Given the description of an element on the screen output the (x, y) to click on. 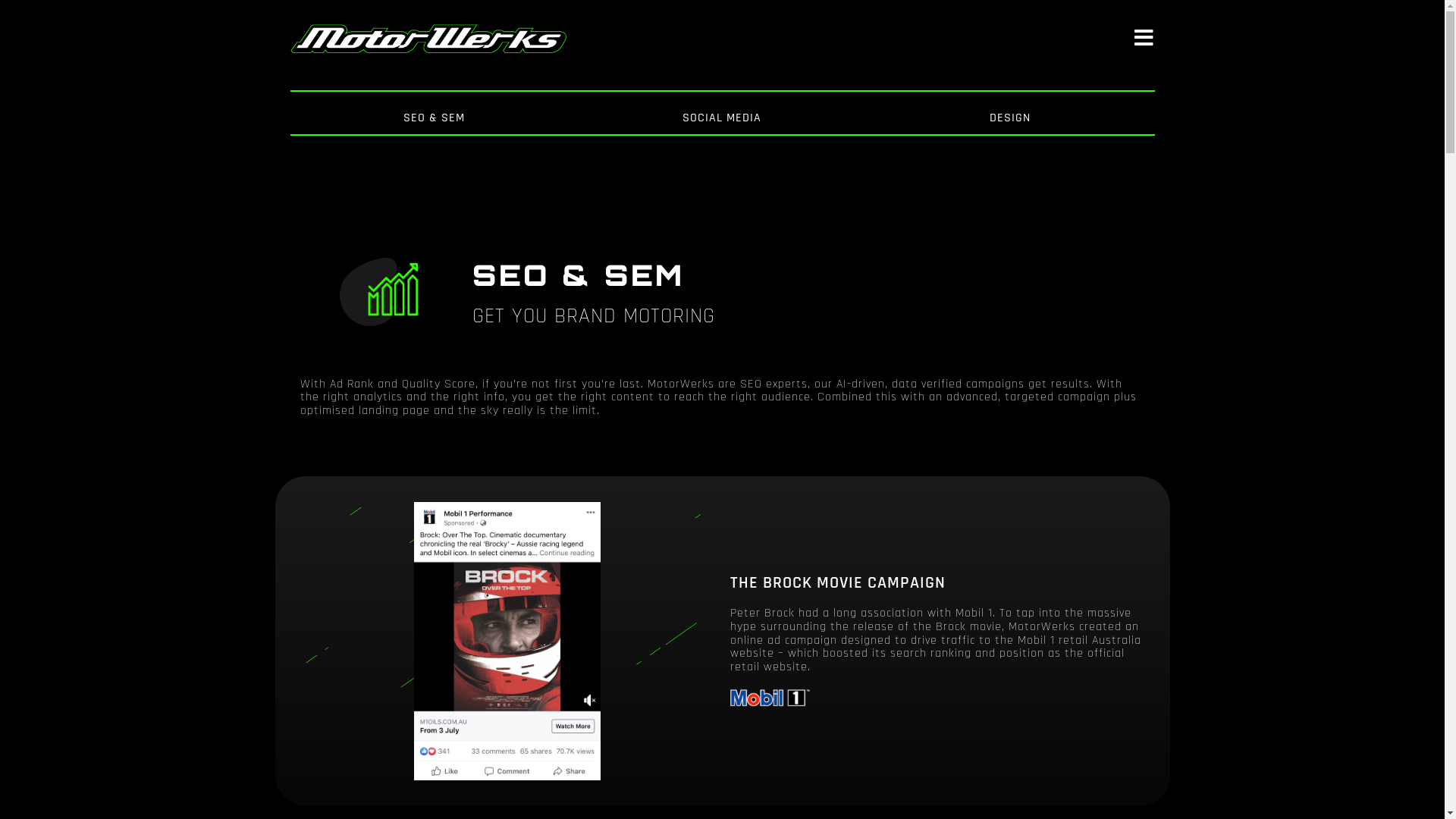
SEO & SEM Element type: text (433, 117)
DESIGN Element type: text (1009, 117)
SOCIAL MEDIA Element type: text (721, 117)
